Given the description of an element on the screen output the (x, y) to click on. 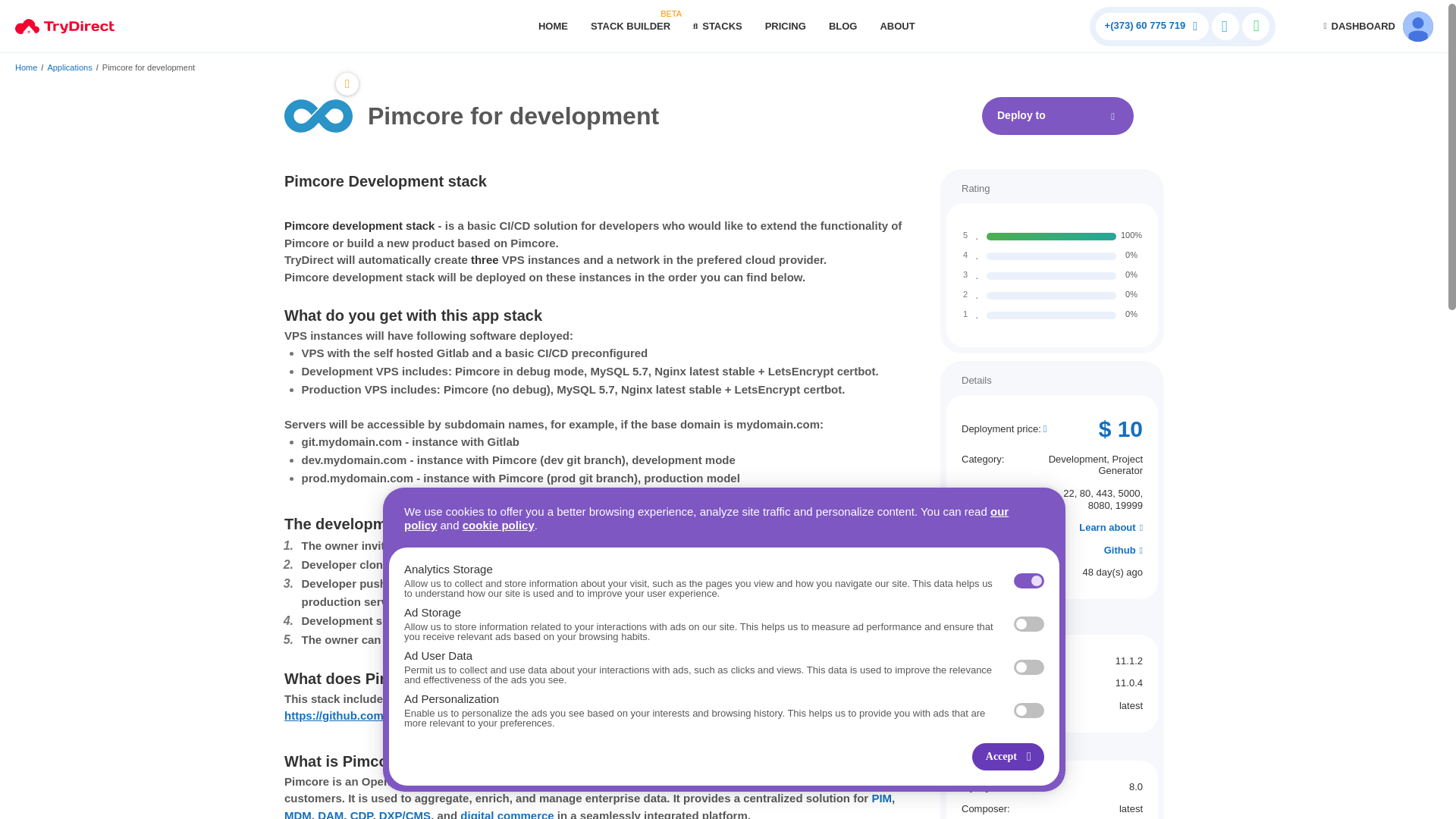
PIM (880, 797)
HOME (630, 26)
ABOUT (553, 26)
PRICING (896, 26)
Home (785, 26)
CDP (25, 66)
MDM (361, 813)
DASHBOARD (297, 813)
STACKS (1357, 26)
Applications (717, 26)
Deploy to (68, 66)
BLOG (1057, 116)
DAM (842, 26)
